Given the description of an element on the screen output the (x, y) to click on. 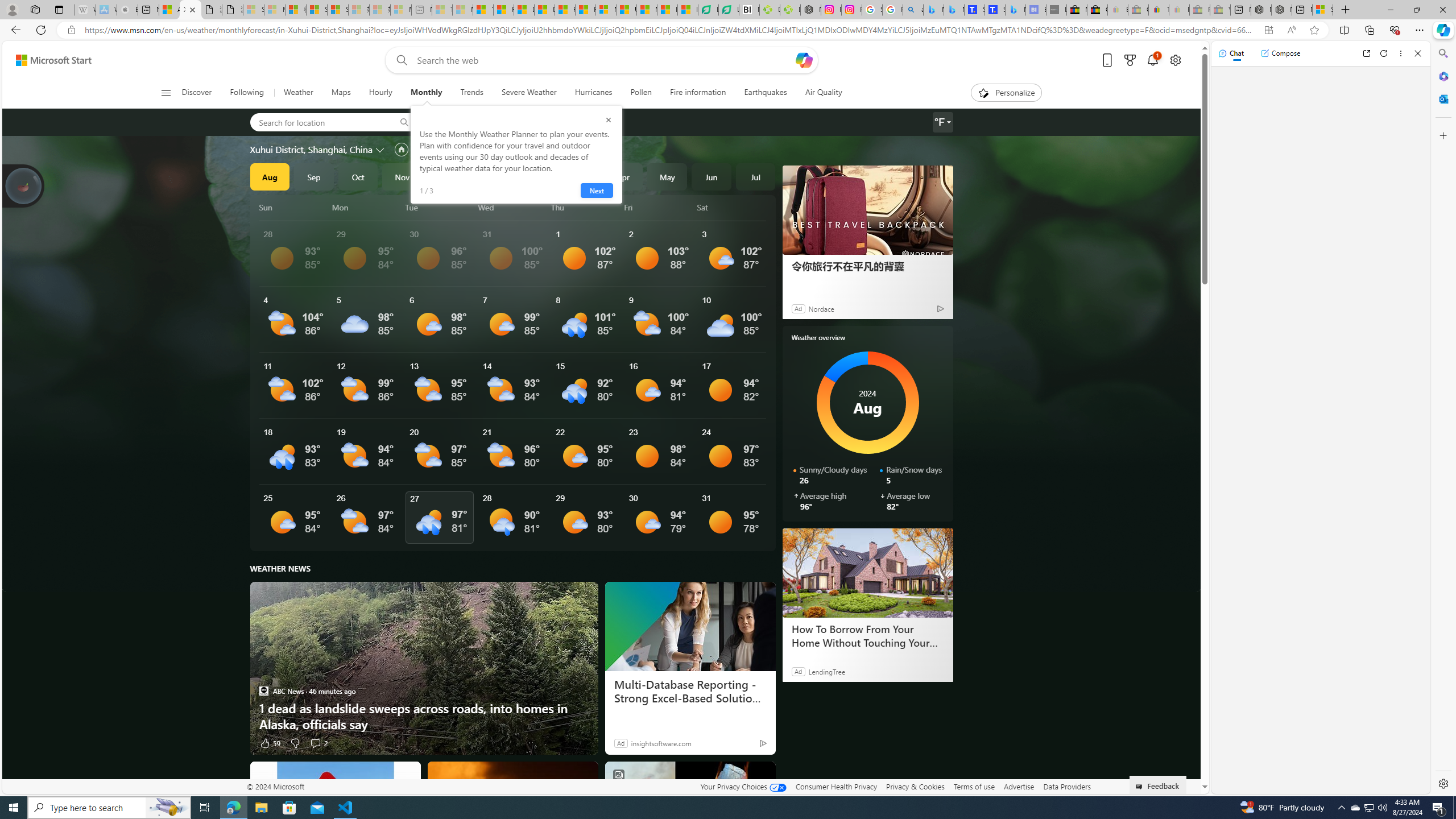
App available. Install Microsoft Start Weather (1268, 29)
Data Providers (1066, 786)
